Given the description of an element on the screen output the (x, y) to click on. 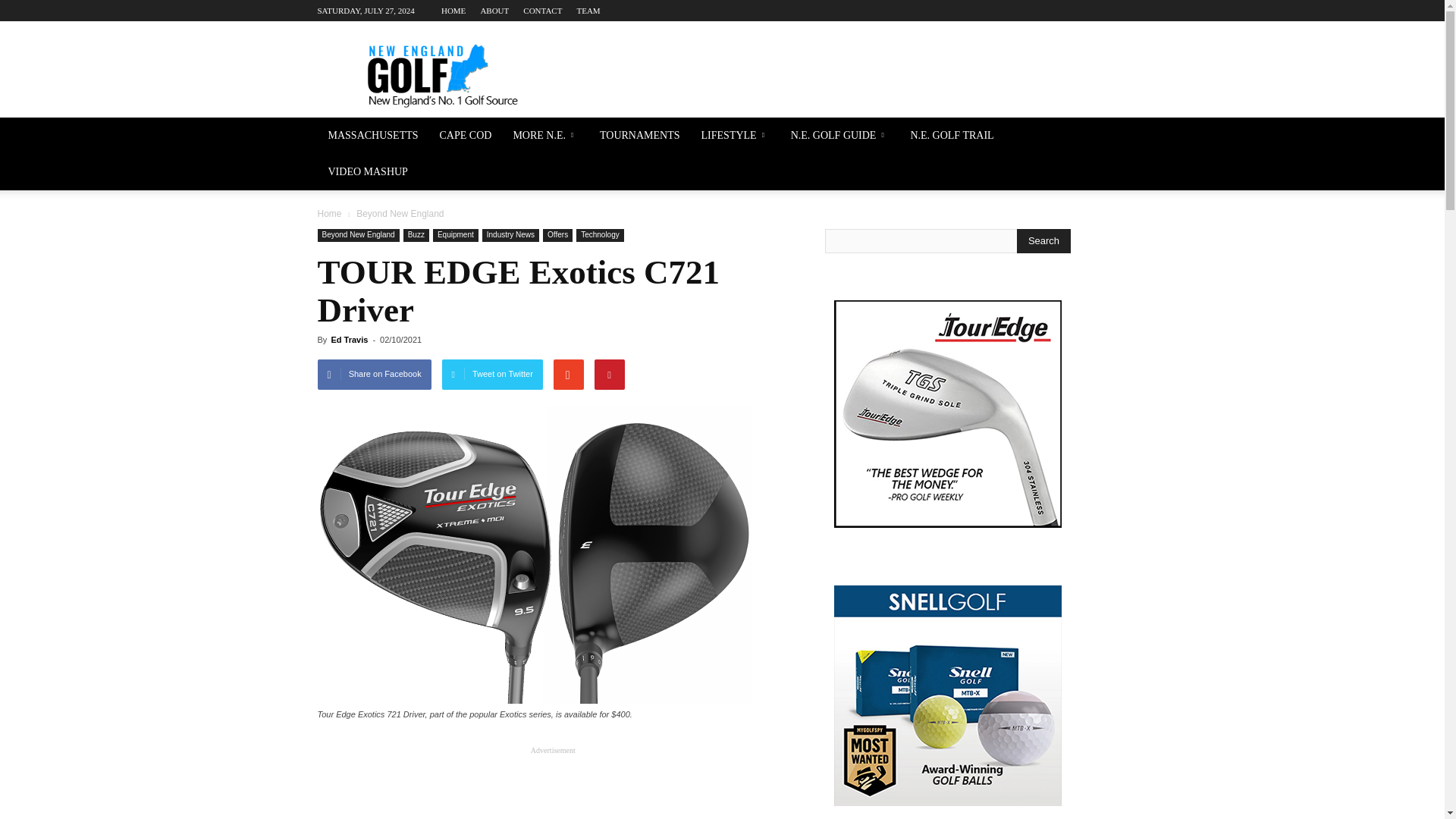
New England Golf Hub (446, 76)
Advertisement (850, 76)
Search (1043, 241)
TOUREDGEC721driver-2shot (534, 554)
TEAM (587, 10)
Advertisement (552, 782)
MASSACHUSETTS (372, 135)
MORE N.E. (545, 135)
CONTACT (542, 10)
HOME (453, 10)
ABOUT (494, 10)
CAPE COD (465, 135)
